Given the description of an element on the screen output the (x, y) to click on. 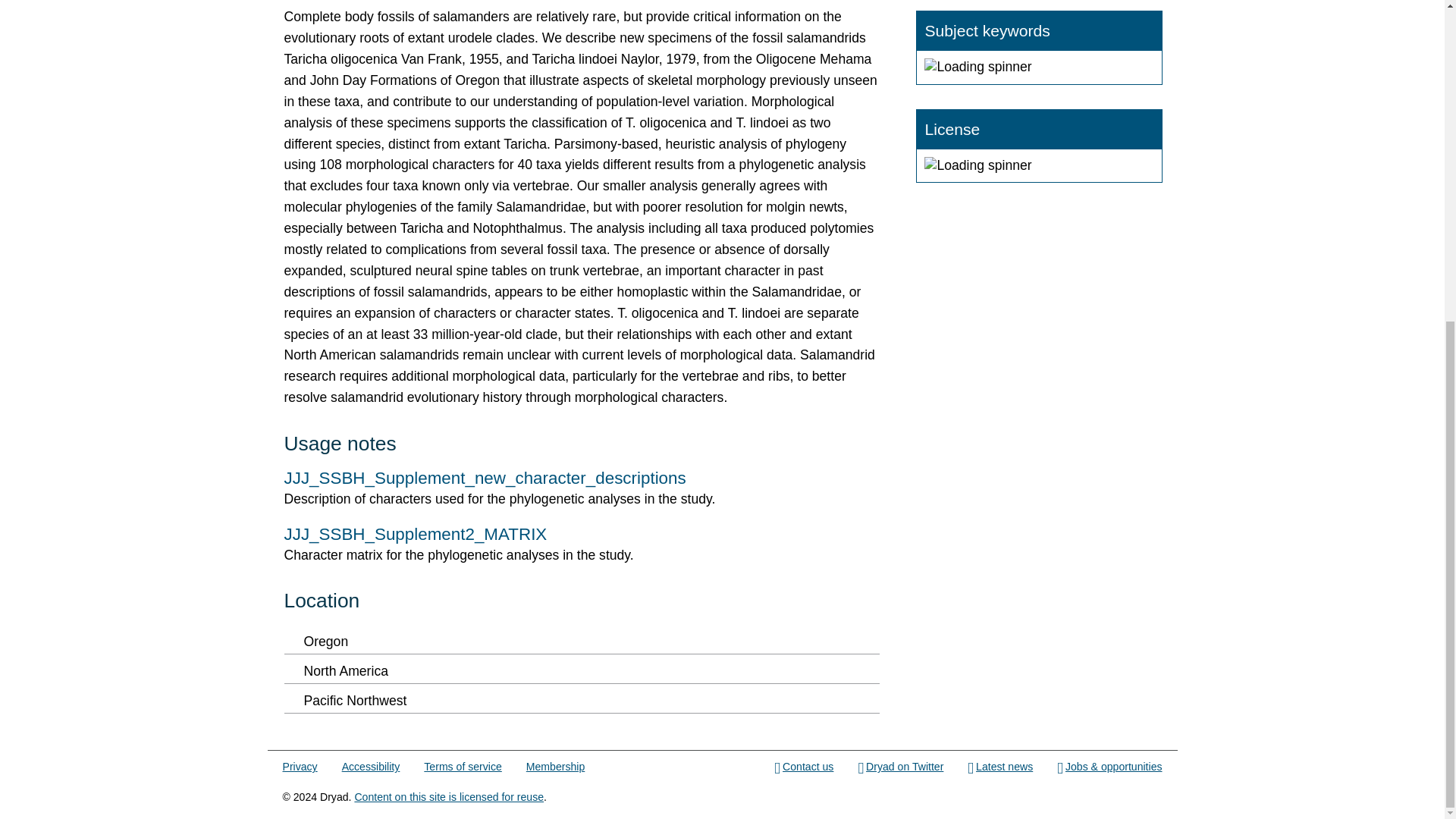
Content on this site is licensed for reuse (448, 797)
Accessibility (371, 767)
Membership (555, 767)
Privacy (299, 767)
Terms of service (461, 767)
Contact us (803, 767)
